Given the description of an element on the screen output the (x, y) to click on. 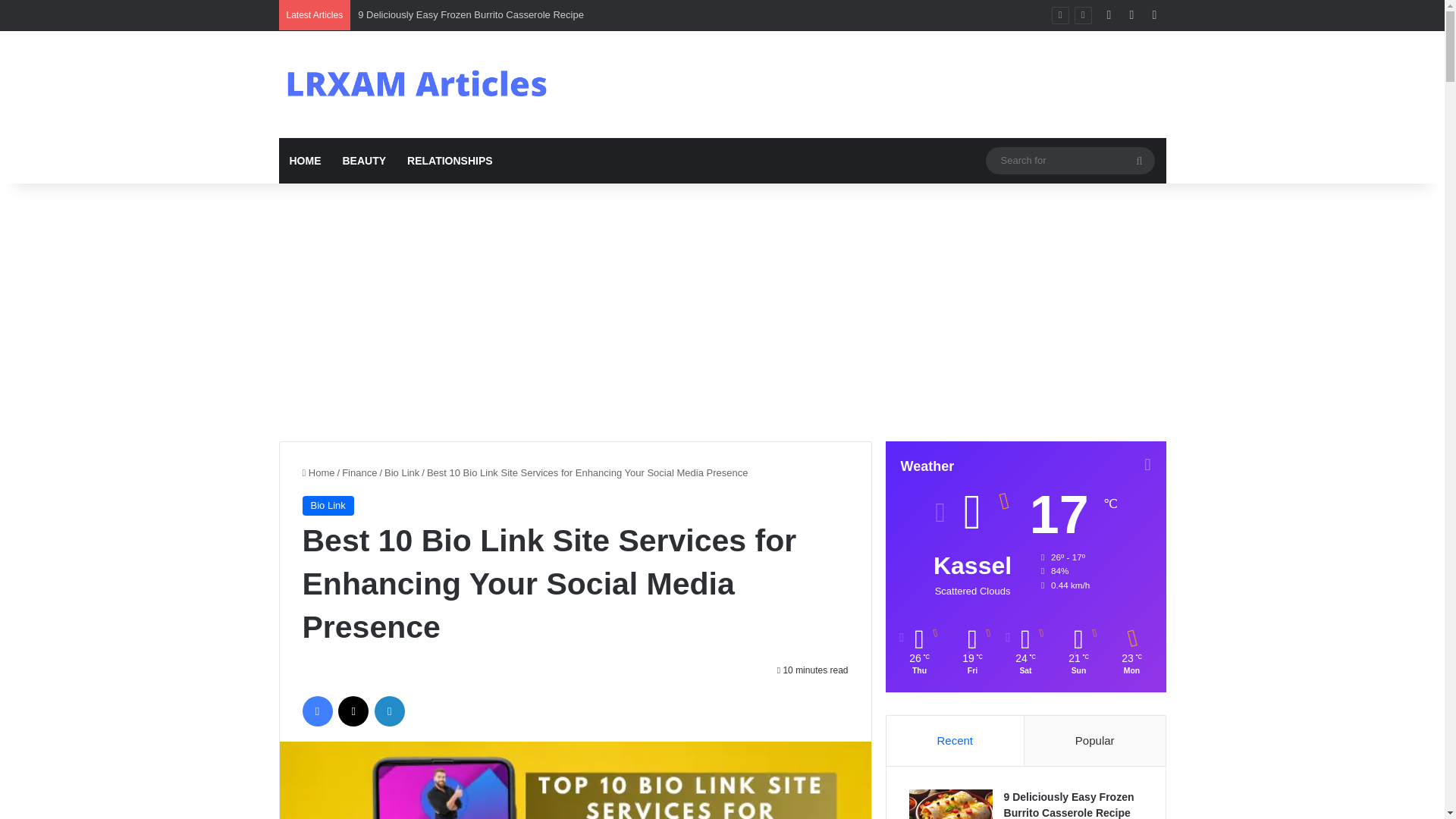
Search for (1139, 160)
Facebook (316, 711)
LRXAM Articles (419, 84)
Search for (1069, 159)
9 Deliciously Easy Frozen Burrito Casserole Recipe (470, 14)
Home (317, 472)
Facebook (316, 711)
HOME (305, 160)
LinkedIn (389, 711)
X (352, 711)
Bio Link (327, 505)
RELATIONSHIPS (449, 160)
Bio Link (401, 472)
LinkedIn (389, 711)
X (352, 711)
